Given the description of an element on the screen output the (x, y) to click on. 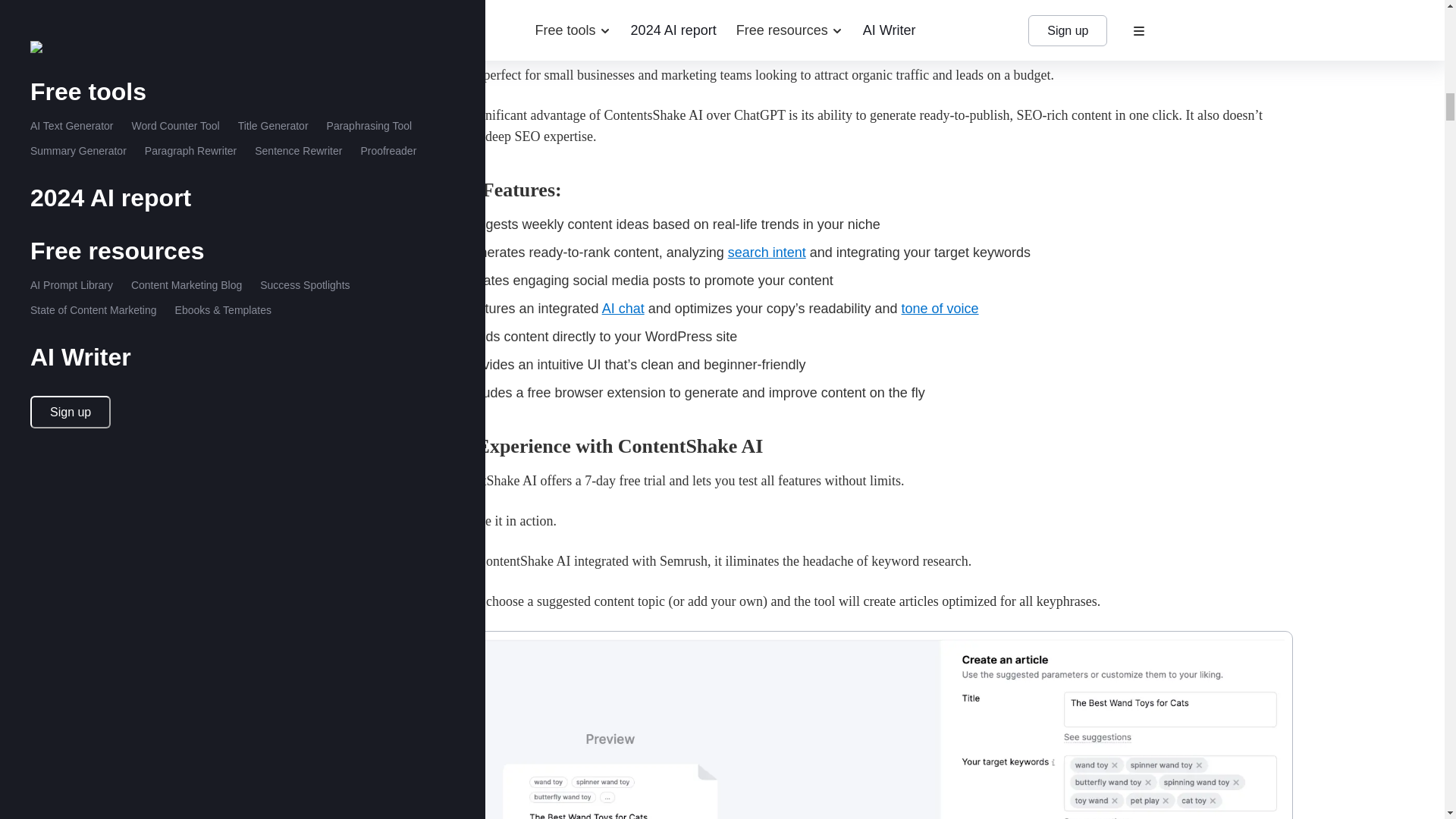
tone of voice (939, 308)
search intent (767, 252)
AI chat (623, 308)
